Given the description of an element on the screen output the (x, y) to click on. 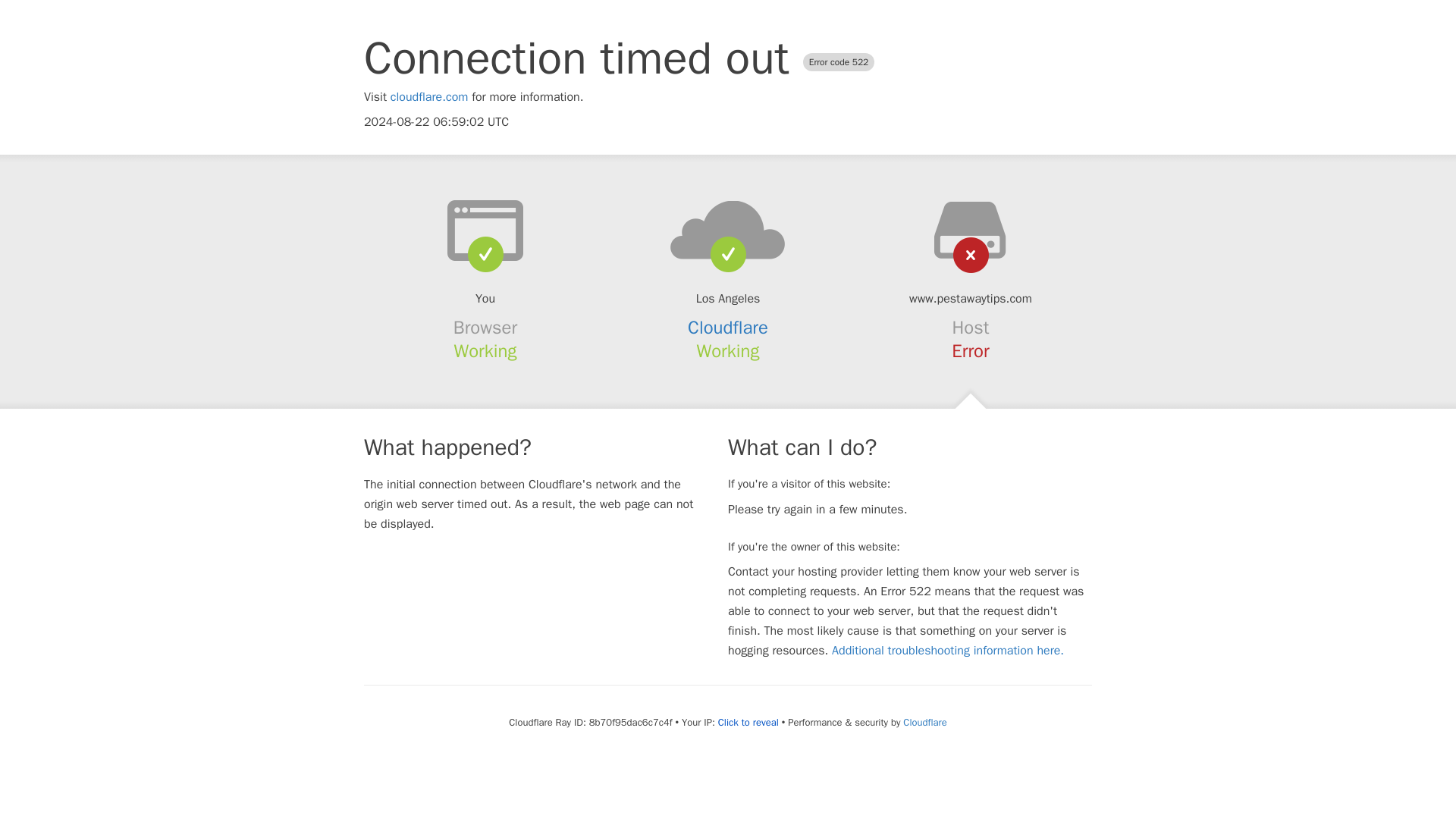
Cloudflare (924, 721)
Additional troubleshooting information here. (947, 650)
Cloudflare (727, 327)
Click to reveal (747, 722)
cloudflare.com (429, 96)
